Given the description of an element on the screen output the (x, y) to click on. 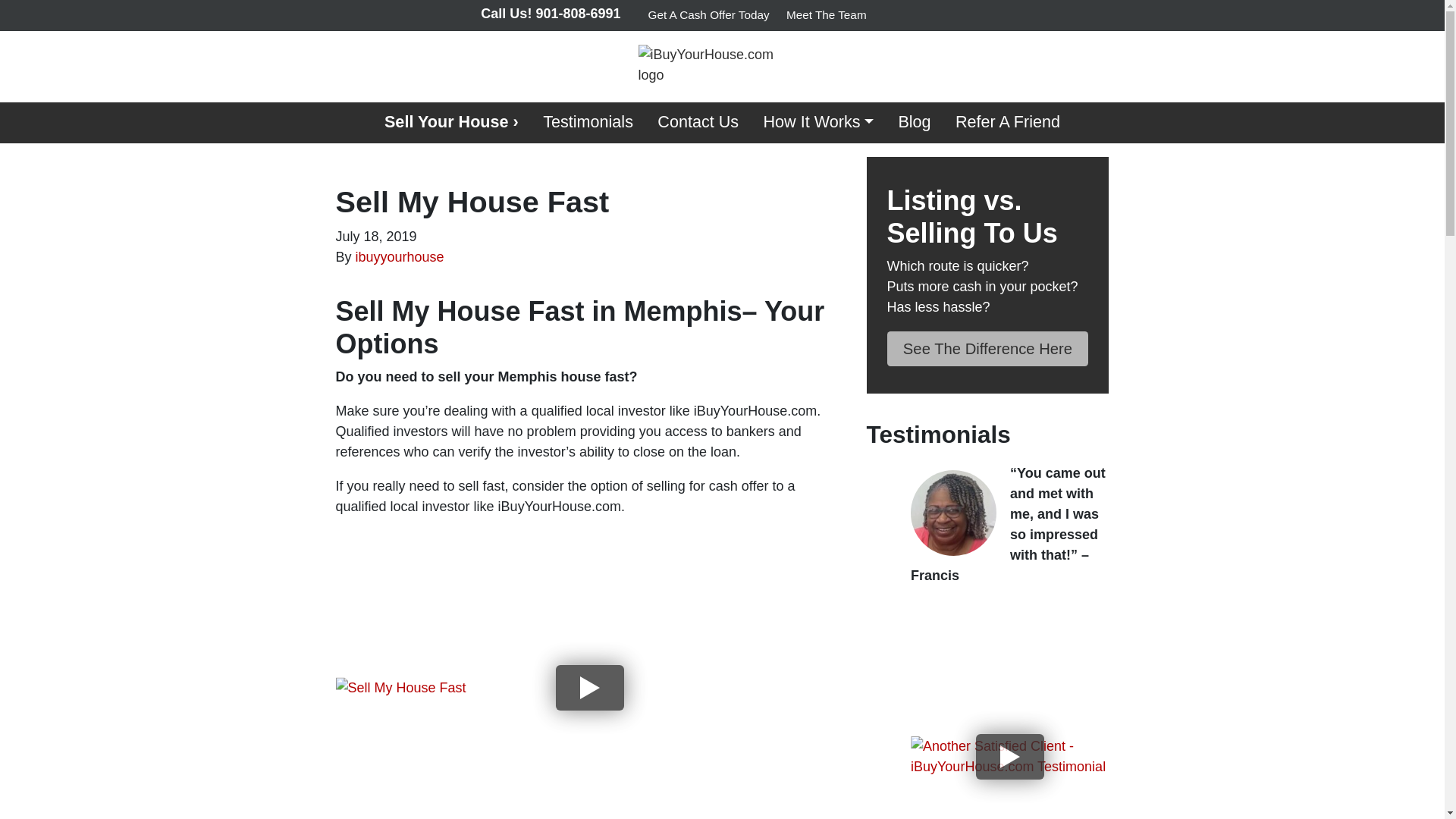
Testimonials (588, 122)
Blog (914, 122)
Contact Us (698, 122)
Twitter (900, 14)
Testimonials (588, 122)
ibuyyourhouse (399, 256)
Refer A Friend (1007, 122)
Contact Us (698, 122)
Facebook (919, 14)
